Given the description of an element on the screen output the (x, y) to click on. 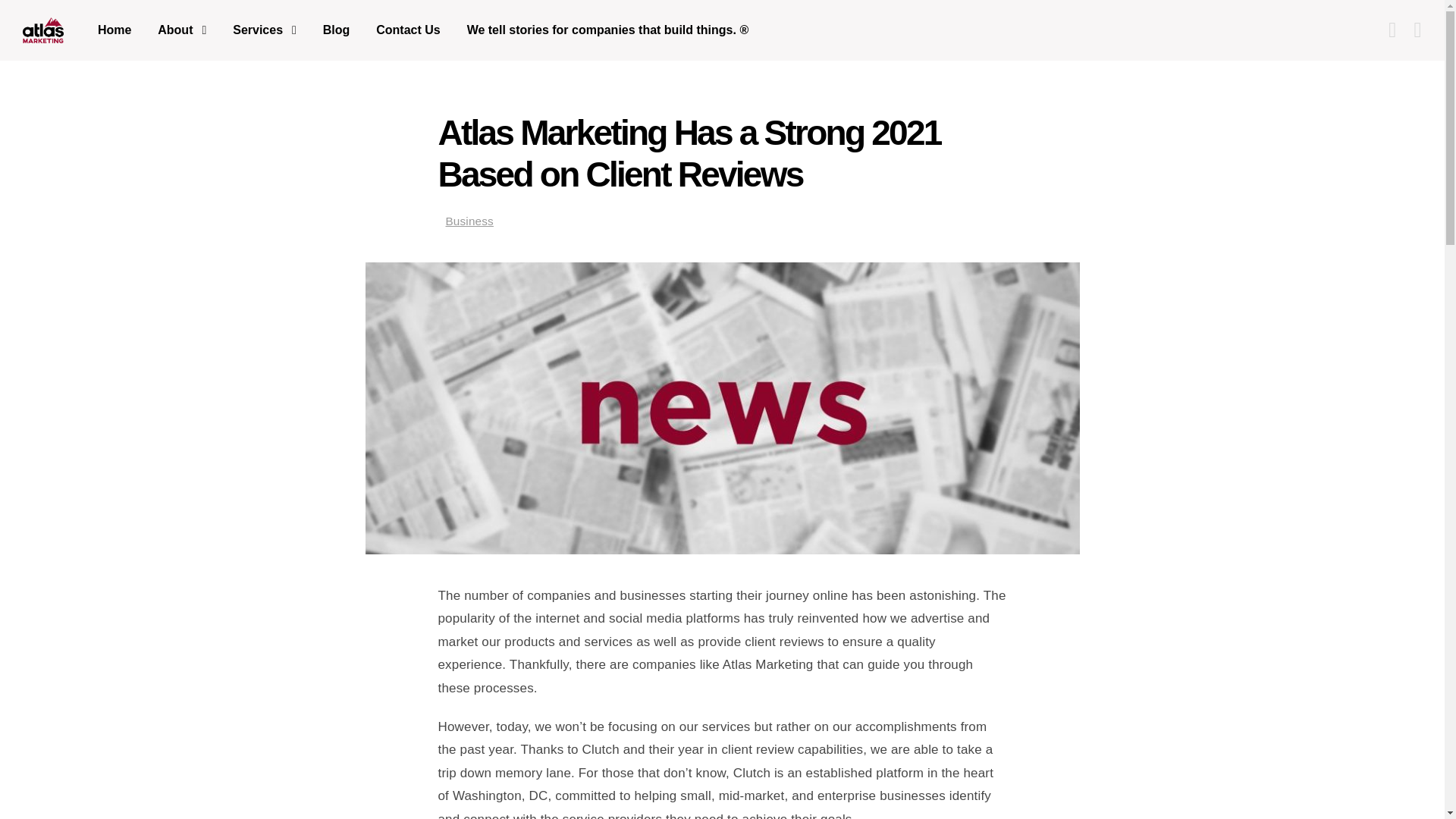
Blog (336, 29)
Services (264, 29)
Home (119, 29)
About (181, 29)
Contact Us (408, 29)
